Given the description of an element on the screen output the (x, y) to click on. 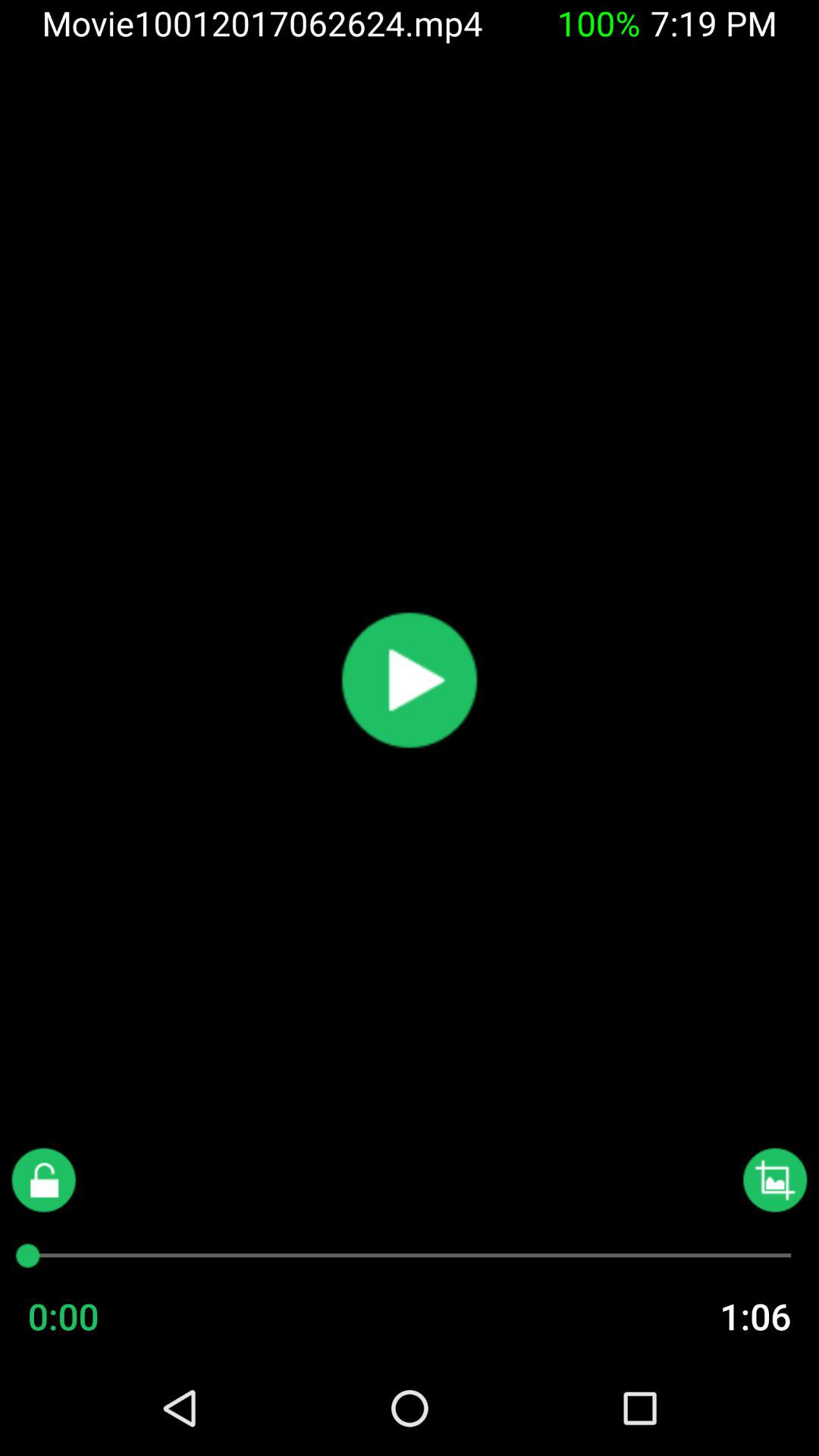
play video (409, 679)
